Given the description of an element on the screen output the (x, y) to click on. 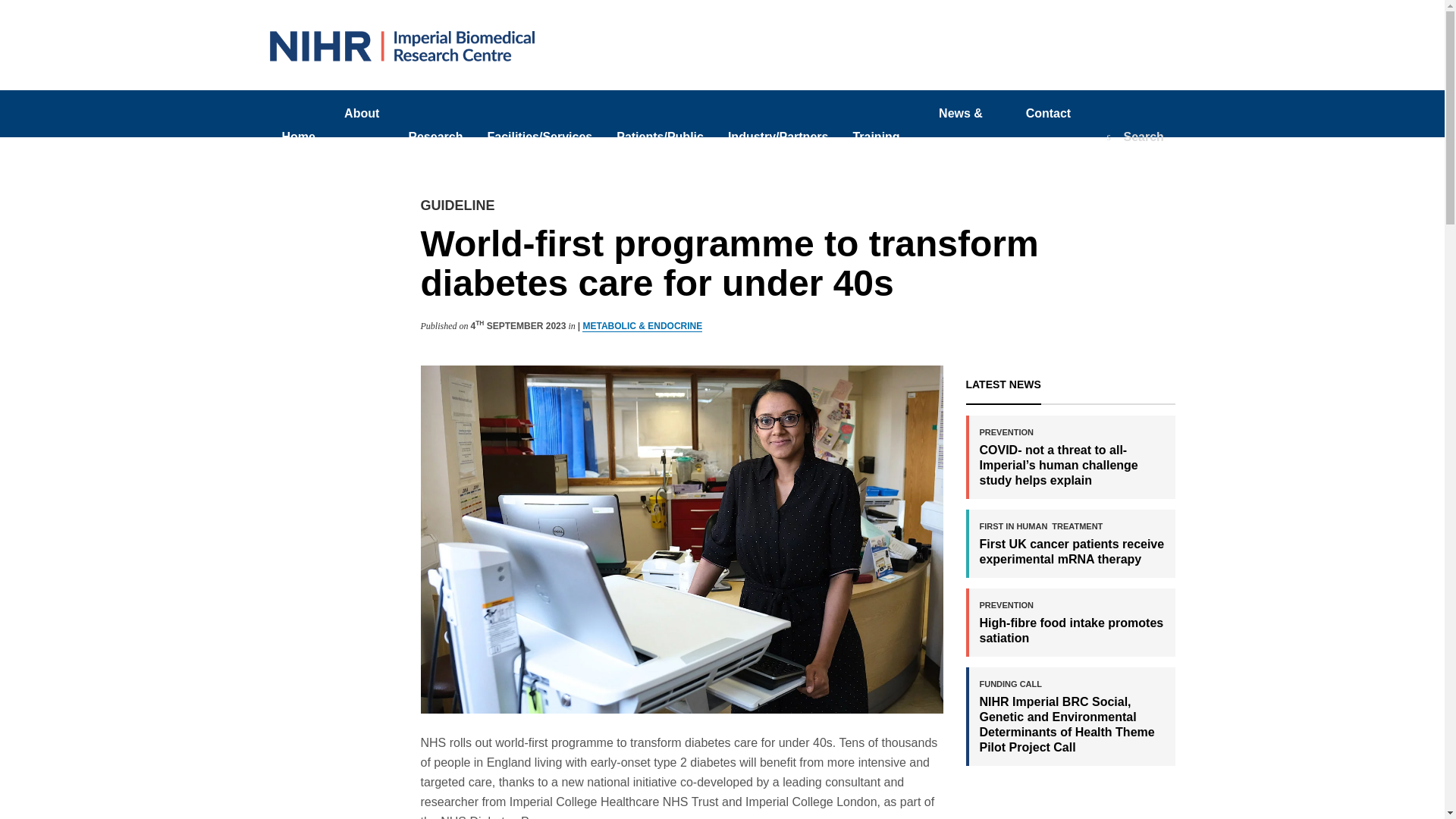
About Us (361, 137)
Research (435, 136)
Home (298, 136)
